Given the description of an element on the screen output the (x, y) to click on. 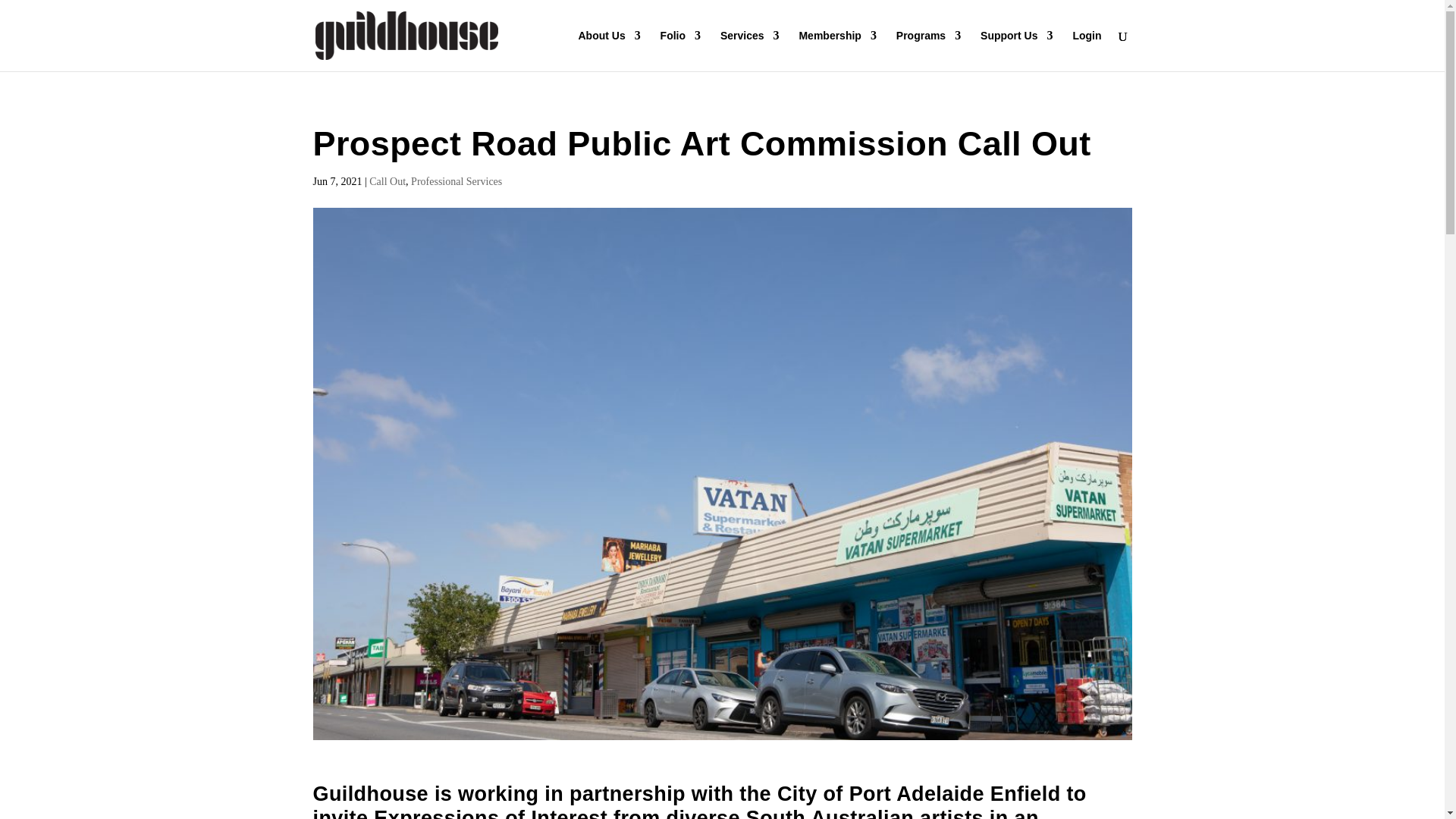
Membership (836, 50)
Services (749, 50)
Folio (680, 50)
Support Us (1015, 50)
About Us (609, 50)
Programs (928, 50)
